Given the description of an element on the screen output the (x, y) to click on. 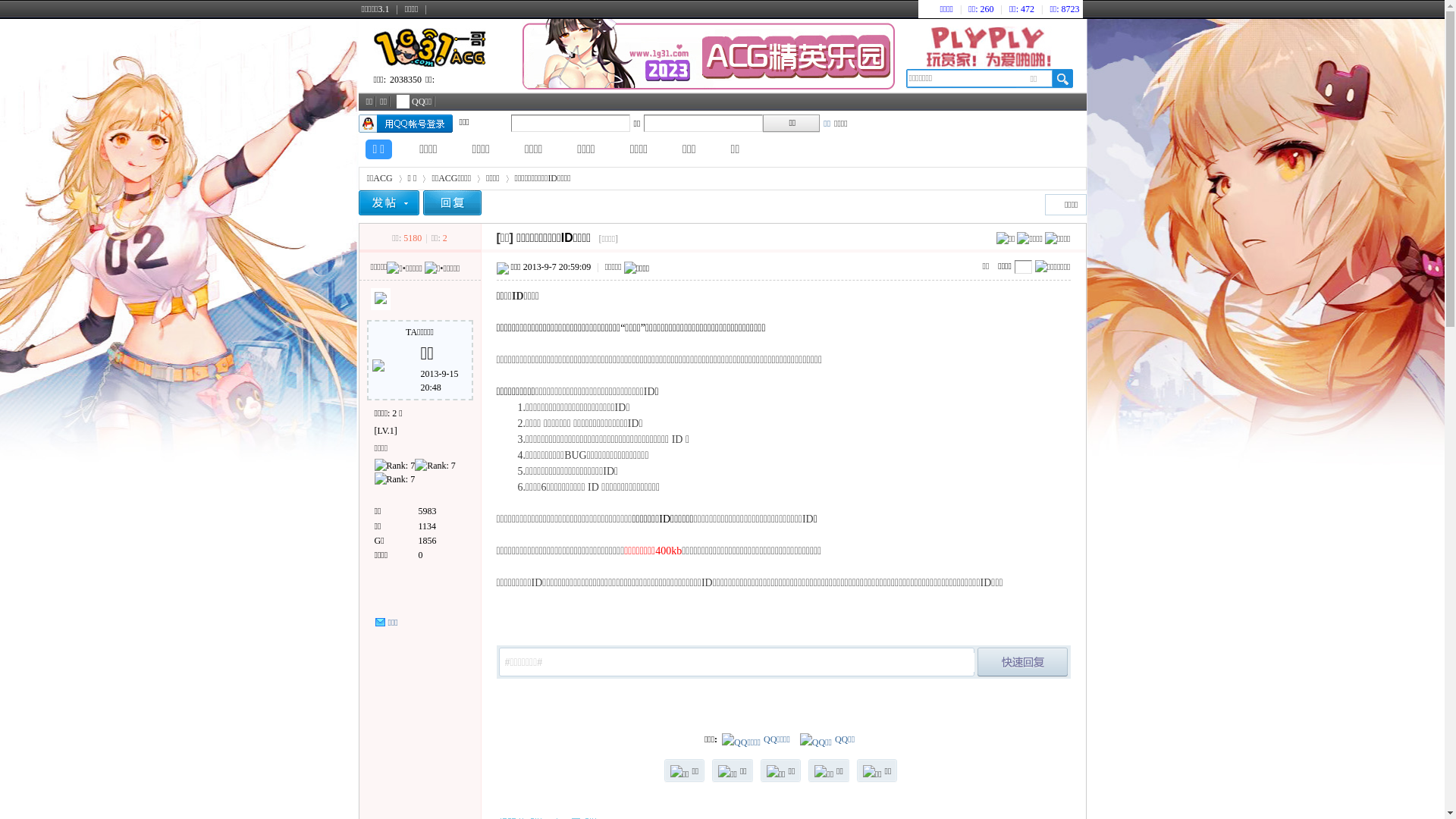
post_newreply Element type: text (1021, 661)
true Element type: text (1062, 78)
